Given the description of an element on the screen output the (x, y) to click on. 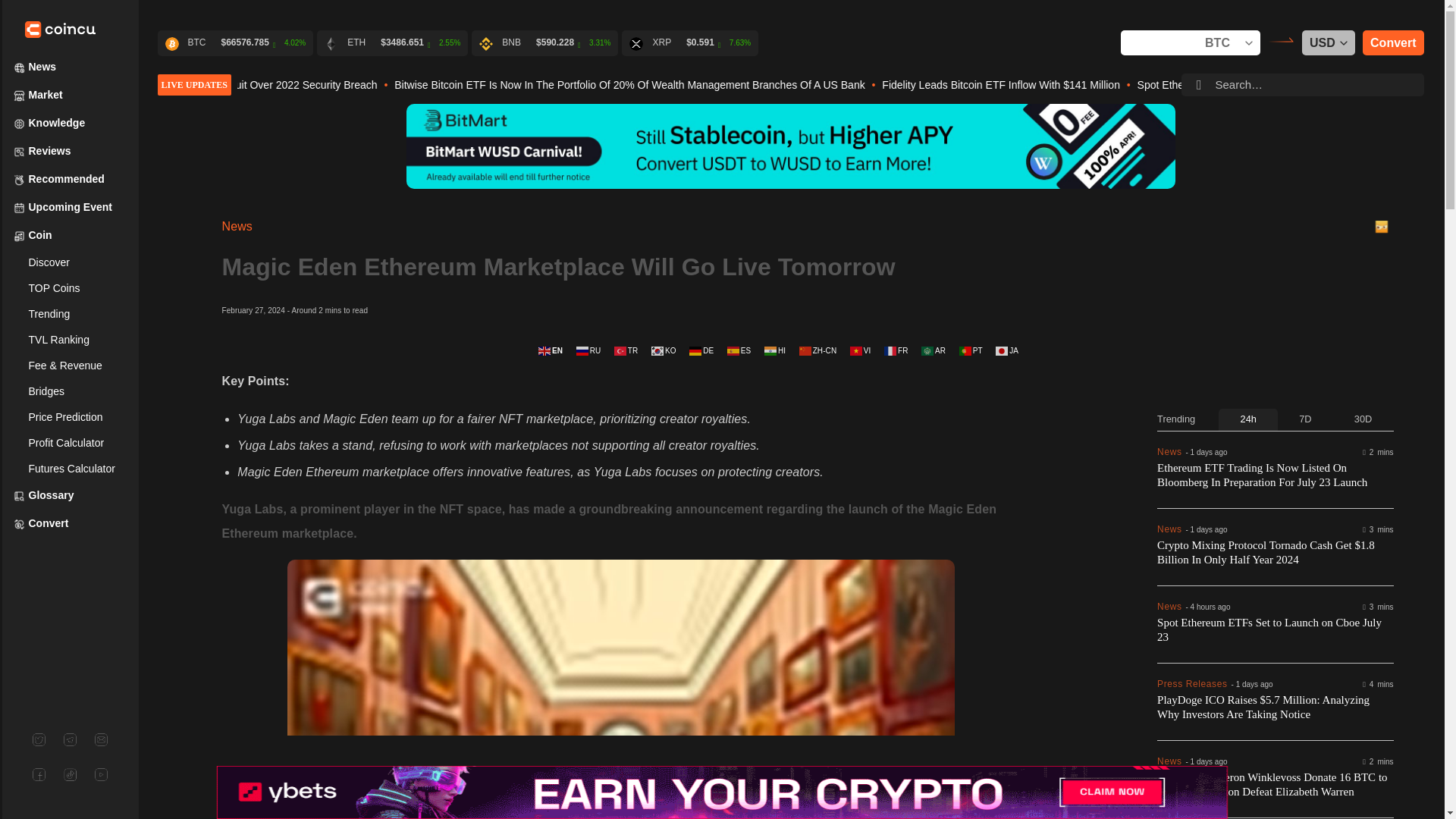
English (551, 350)
Deutsch (702, 350)
